Given the description of an element on the screen output the (x, y) to click on. 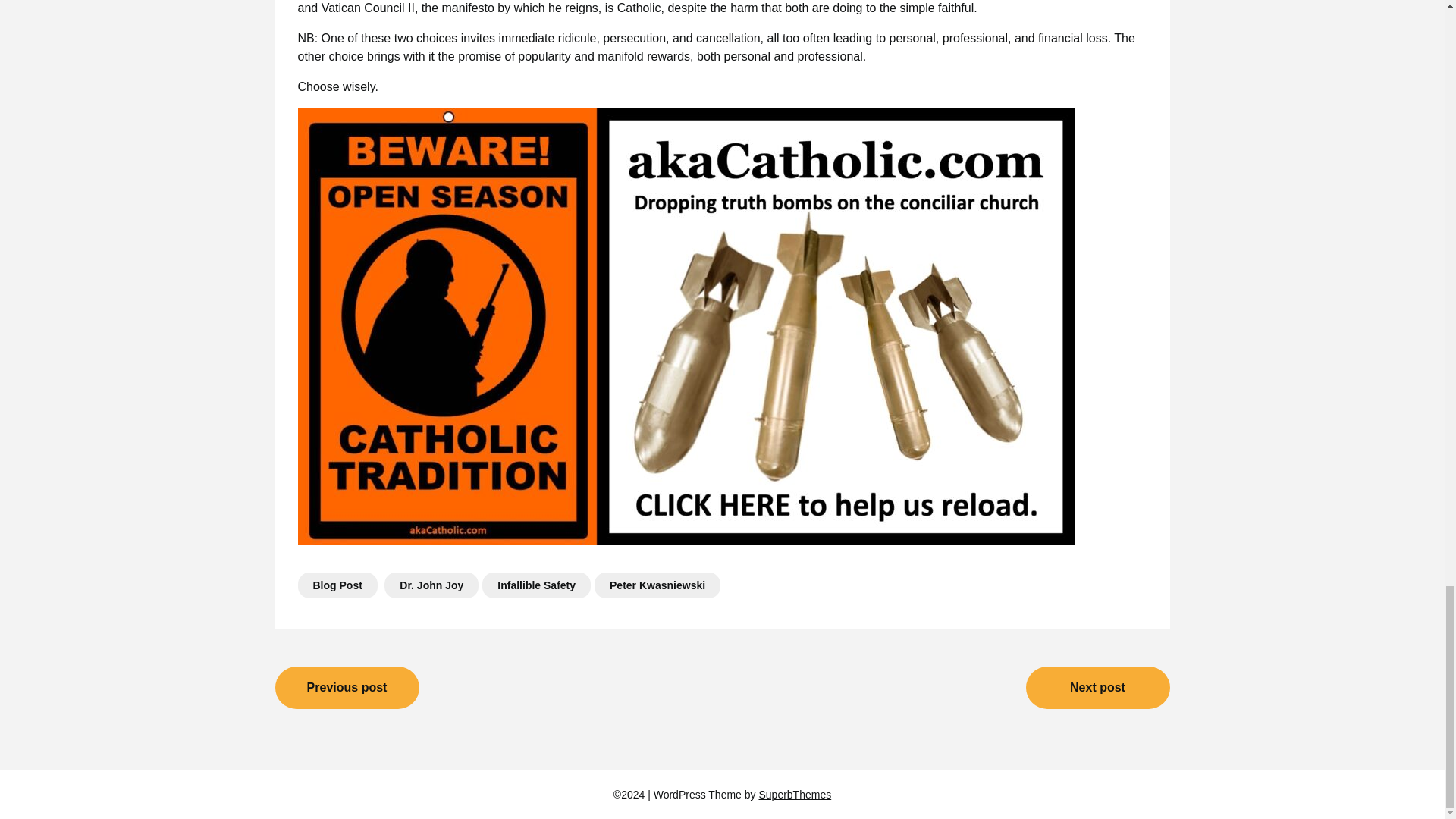
Next post (1097, 687)
SuperbThemes (794, 794)
Infallible Safety (536, 585)
Peter Kwasniewski (657, 585)
Dr. John Joy (431, 585)
Blog Post (337, 585)
Previous post (347, 687)
